Given the description of an element on the screen output the (x, y) to click on. 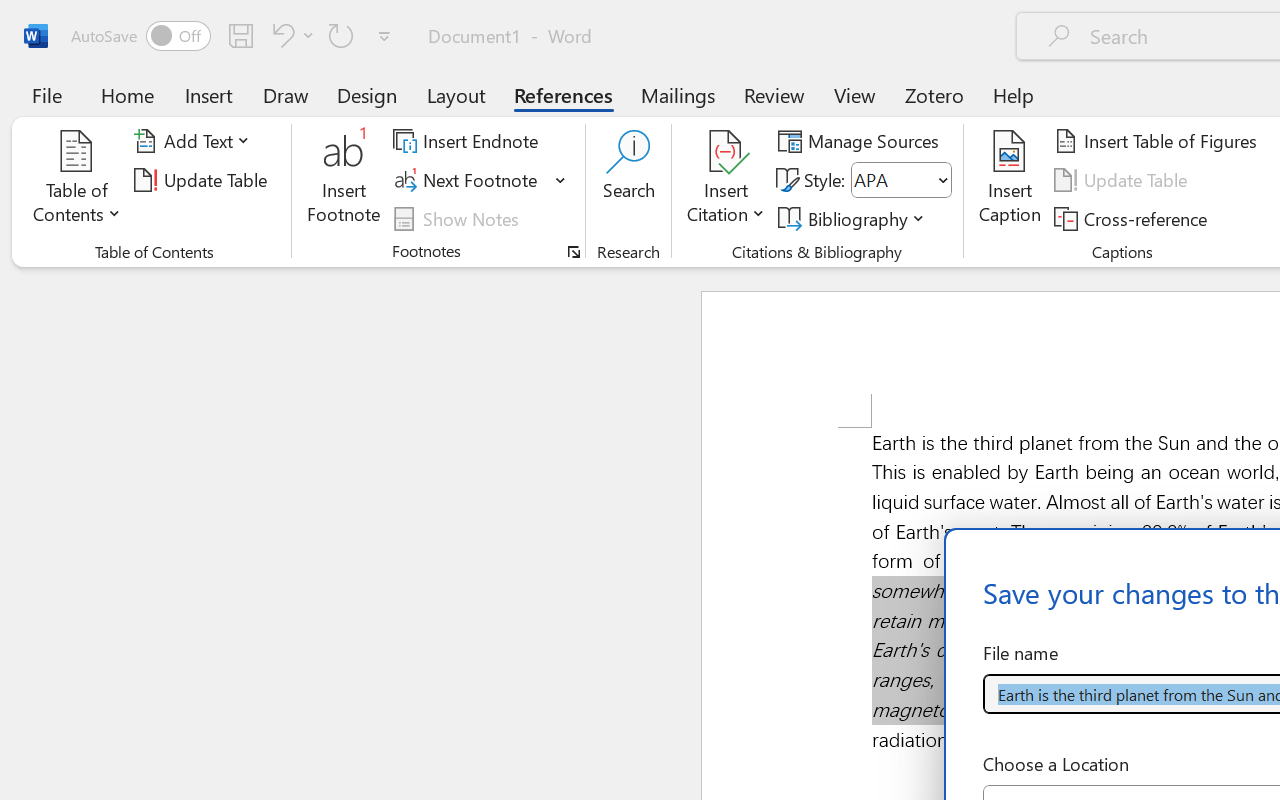
Next Footnote (468, 179)
Undo Italic (280, 35)
Next Footnote (479, 179)
Add Text (195, 141)
Repeat Doc Close (341, 35)
Style (892, 179)
Footnote and Endnote Dialog... (573, 252)
Insert Footnote (344, 179)
Update Table (1124, 179)
